Given the description of an element on the screen output the (x, y) to click on. 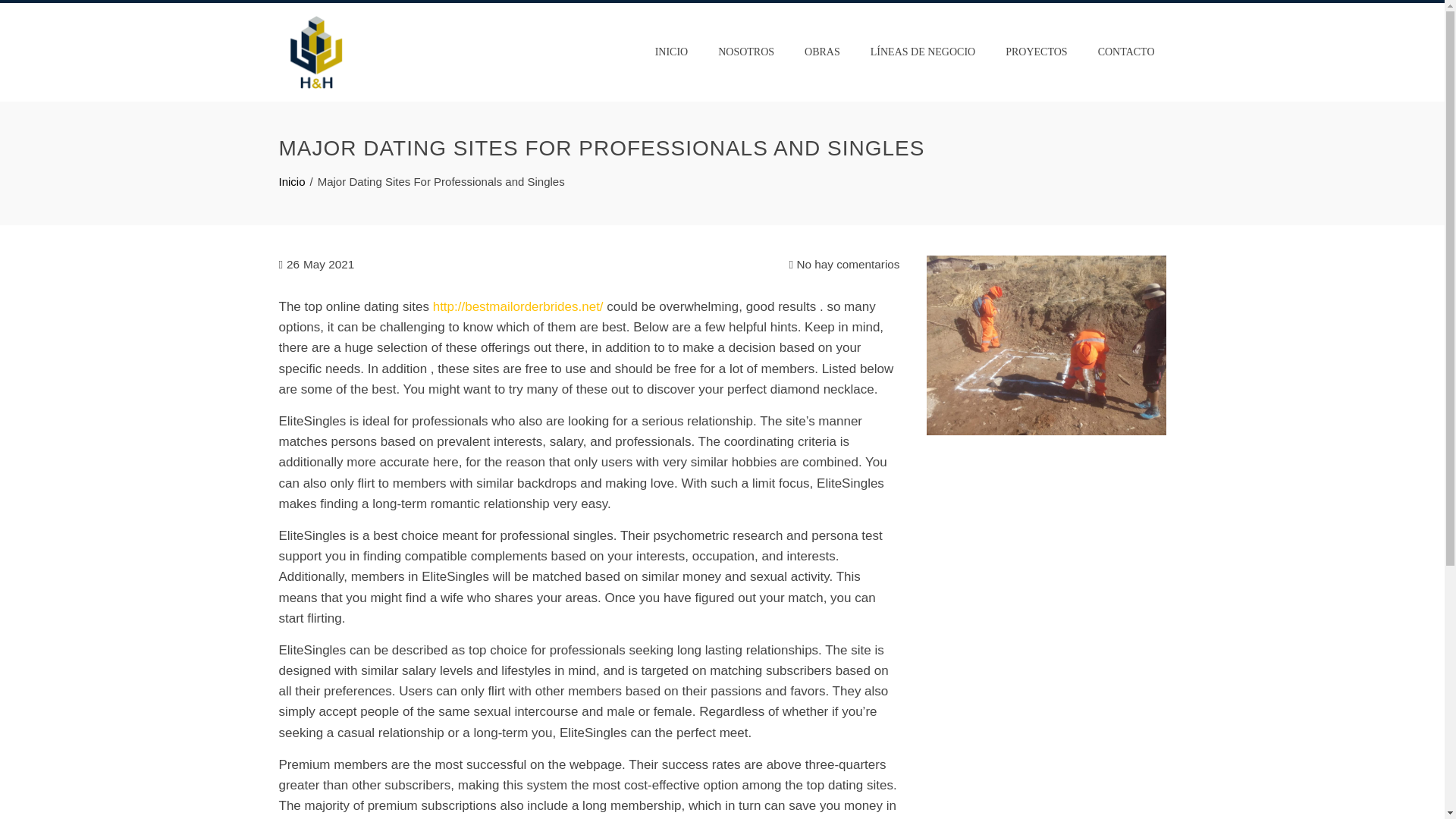
Inicio (292, 181)
OBRAS (822, 52)
INICIO (671, 52)
CONTACTO (1126, 52)
NOSOTROS (746, 52)
No hay comentarios (844, 264)
PROYECTOS (1036, 52)
